Given the description of an element on the screen output the (x, y) to click on. 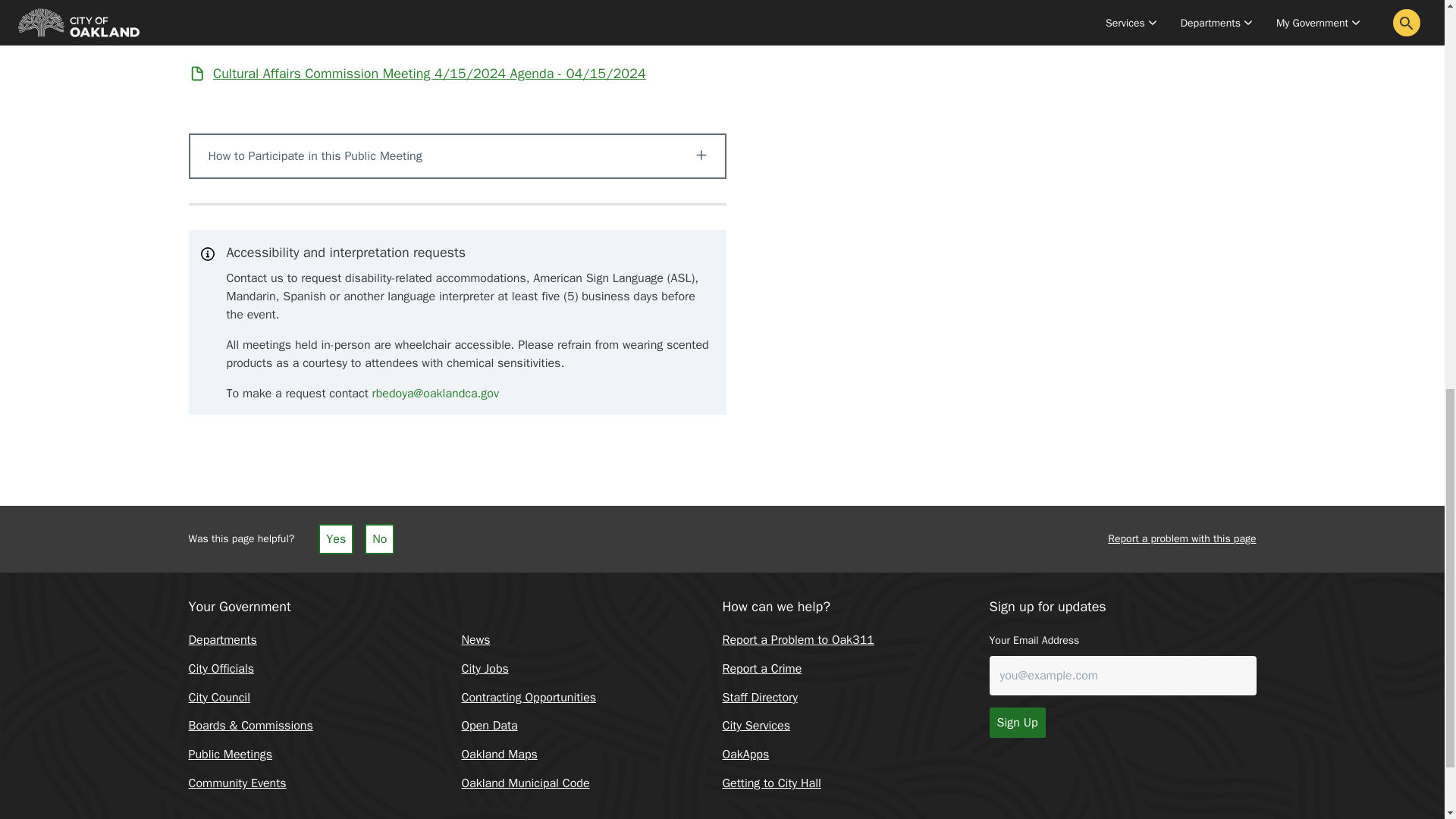
Sign Up (1016, 722)
